Given the description of an element on the screen output the (x, y) to click on. 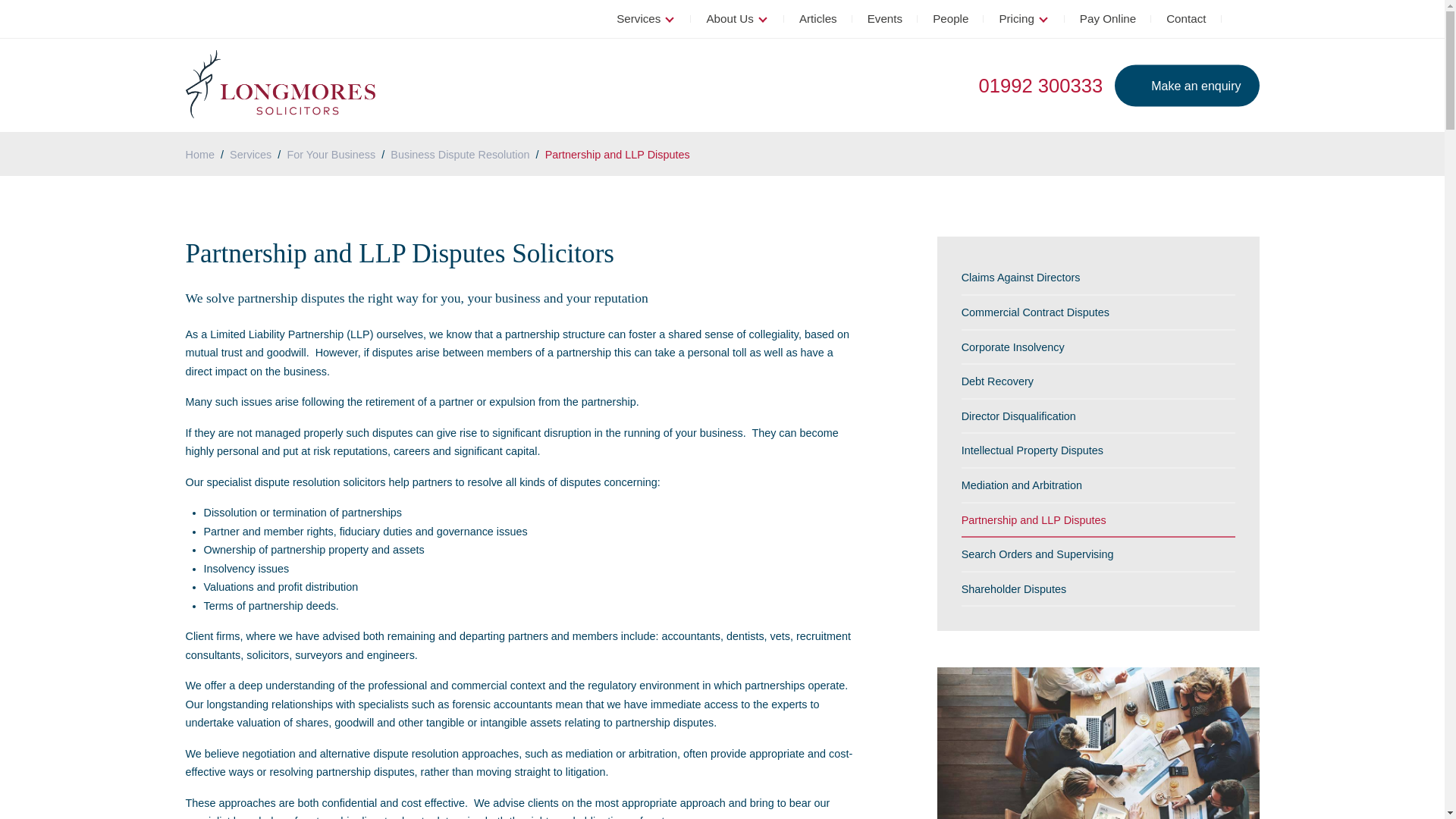
People (950, 18)
About Us (736, 18)
Events (884, 18)
Articles (817, 18)
Pricing (1024, 18)
Services (645, 18)
